Given the description of an element on the screen output the (x, y) to click on. 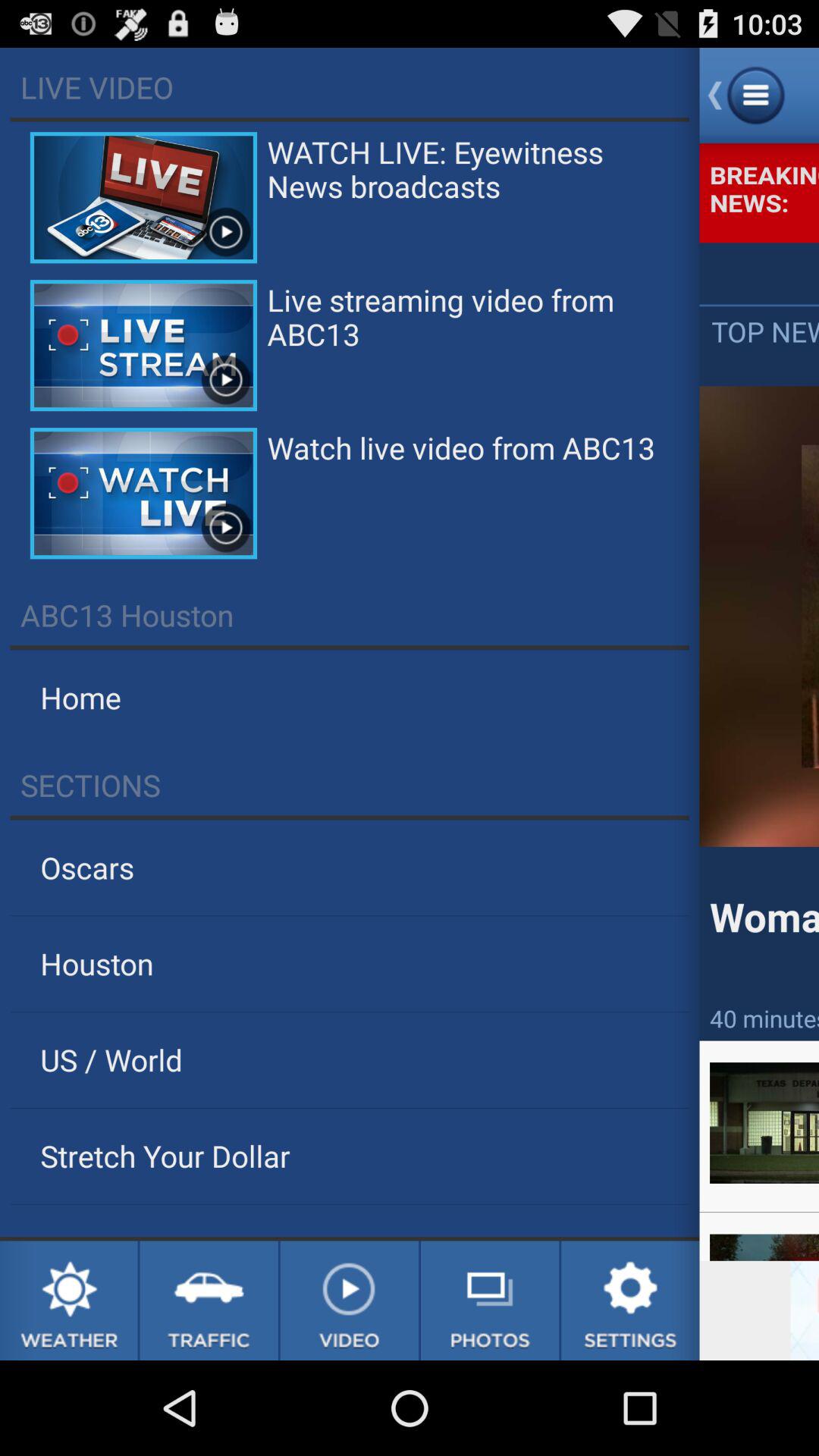
weather button (68, 1300)
